Given the description of an element on the screen output the (x, y) to click on. 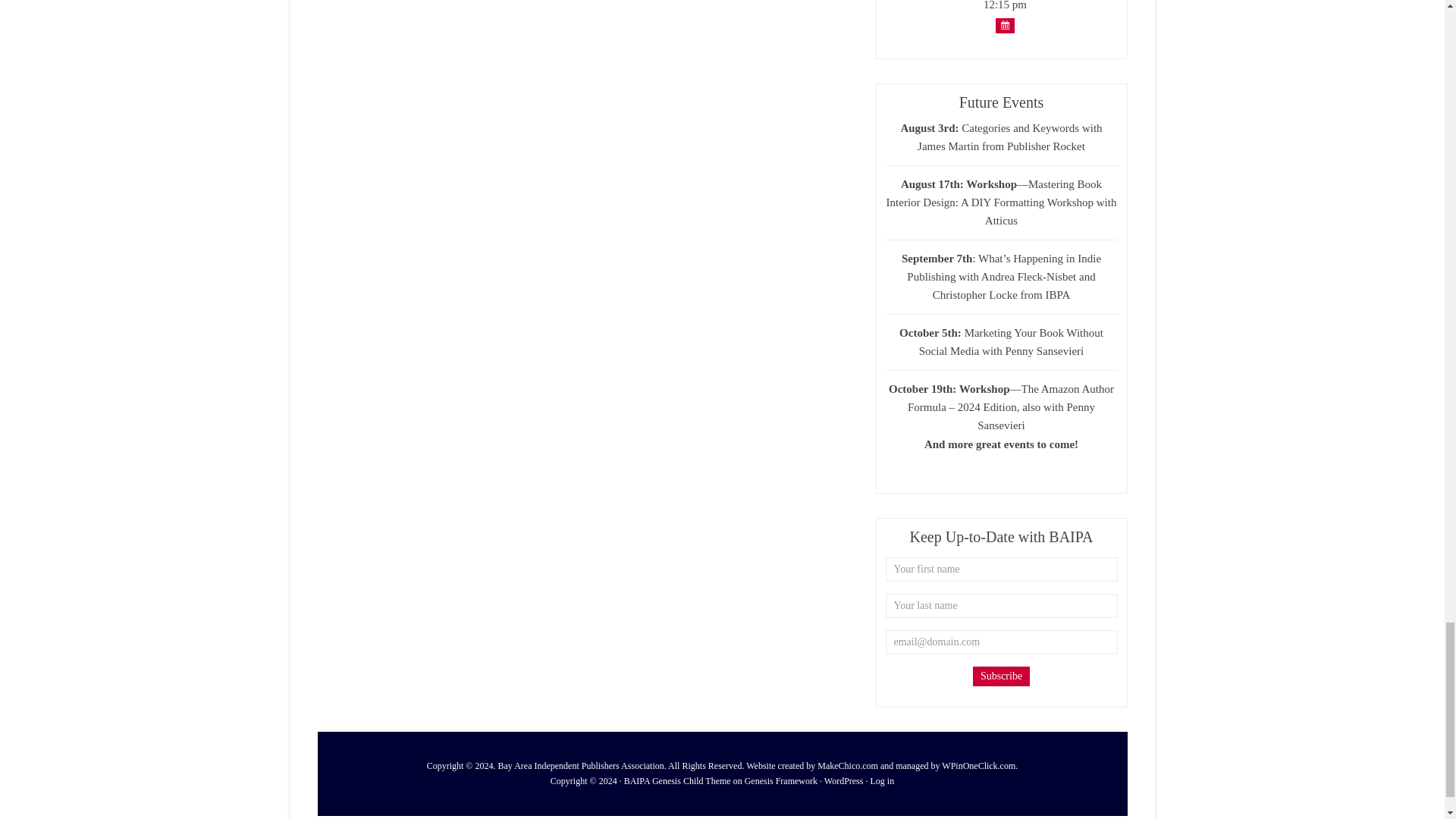
WordPress in One Click (954, 765)
Add to iCal Calendar (1004, 25)
Subscribe (1000, 676)
Make Chico (811, 765)
